Given the description of an element on the screen output the (x, y) to click on. 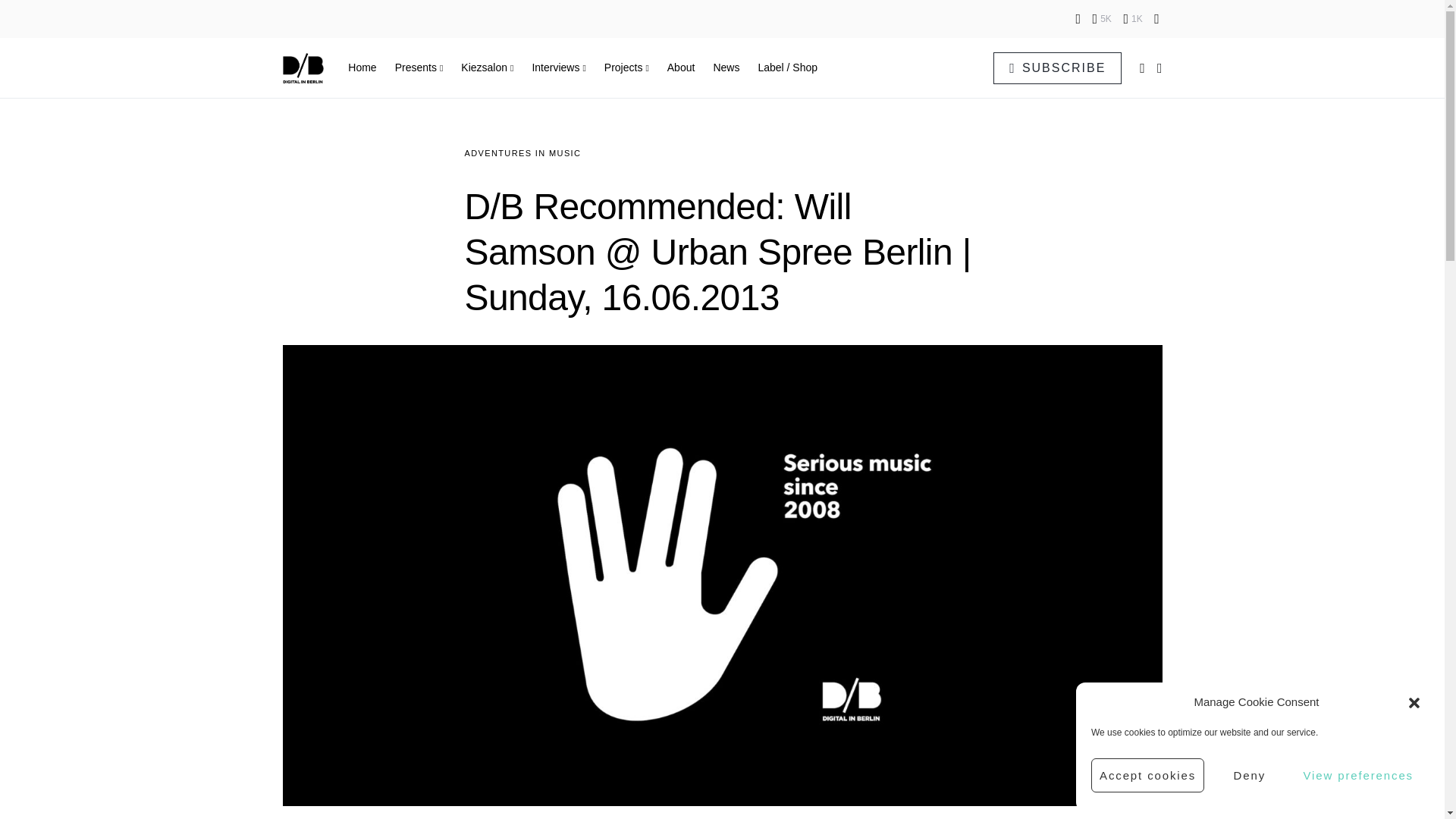
Deny (1249, 775)
View preferences (1358, 775)
Accept cookies (1147, 775)
